Given the description of an element on the screen output the (x, y) to click on. 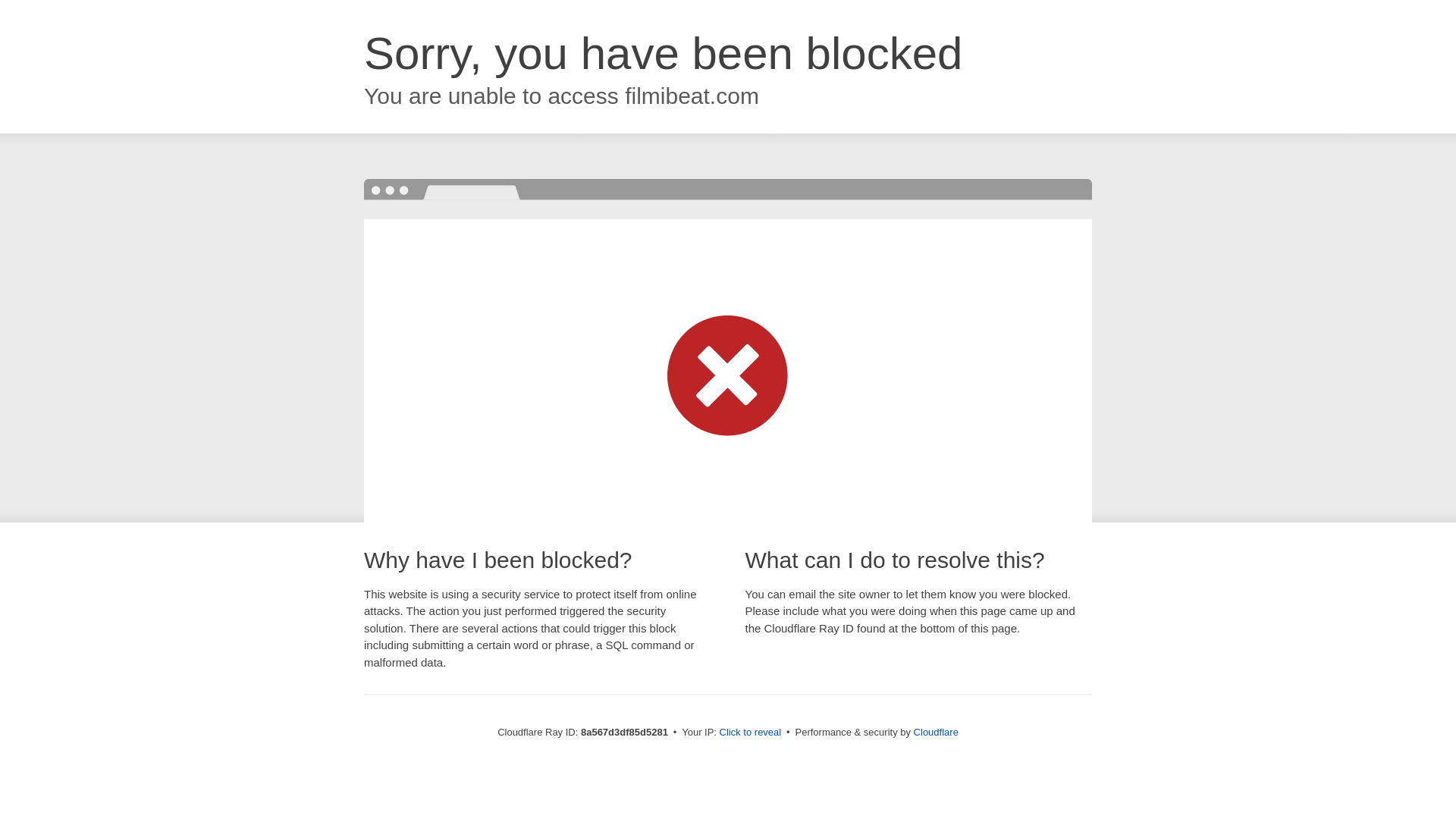
Click to reveal (750, 732)
Cloudflare (936, 731)
